Given the description of an element on the screen output the (x, y) to click on. 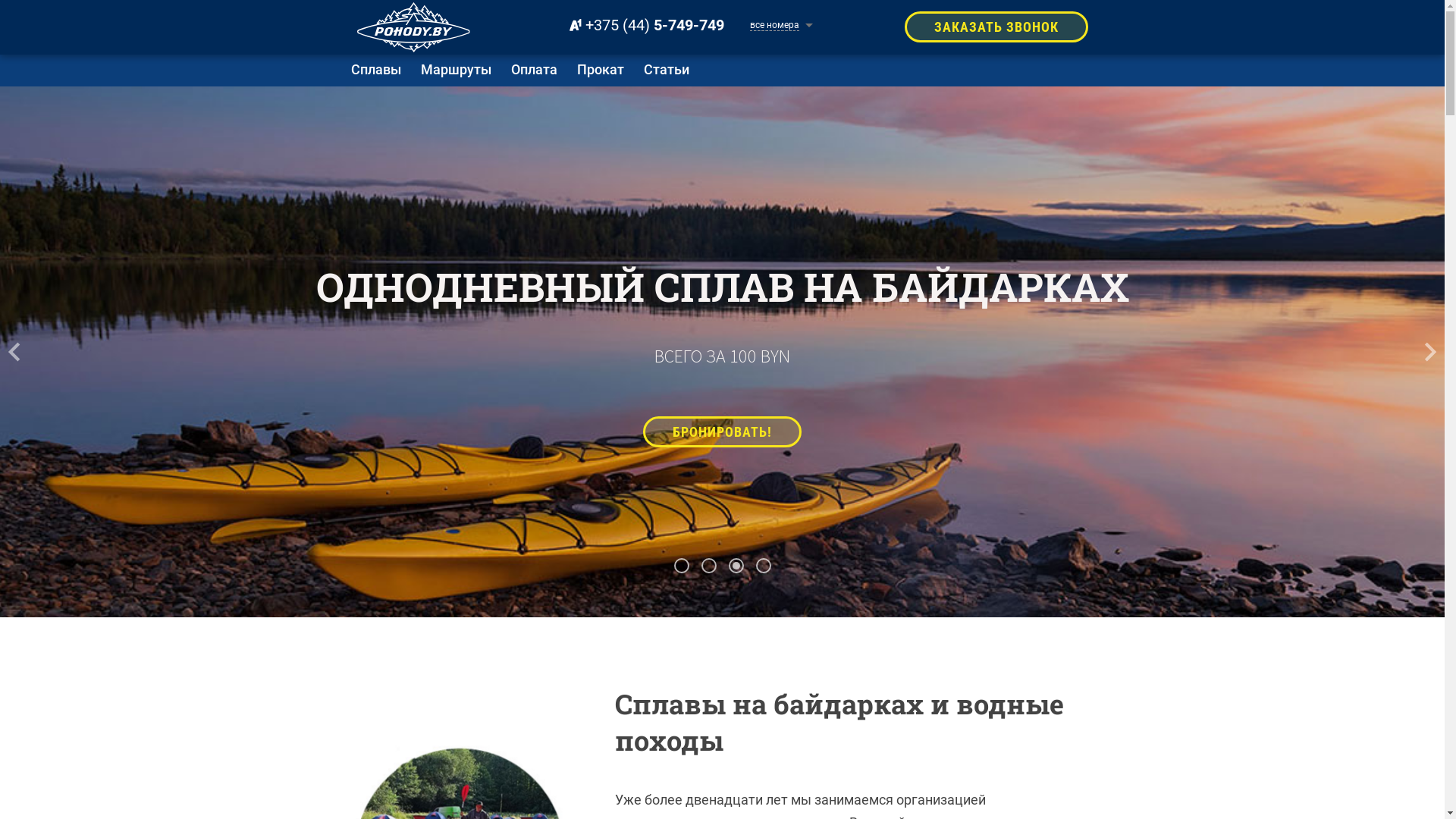
+375 (44) 5-749-749 Element type: text (642, 24)
prev Element type: text (26, 351)
next Element type: text (1418, 351)
